Given the description of an element on the screen output the (x, y) to click on. 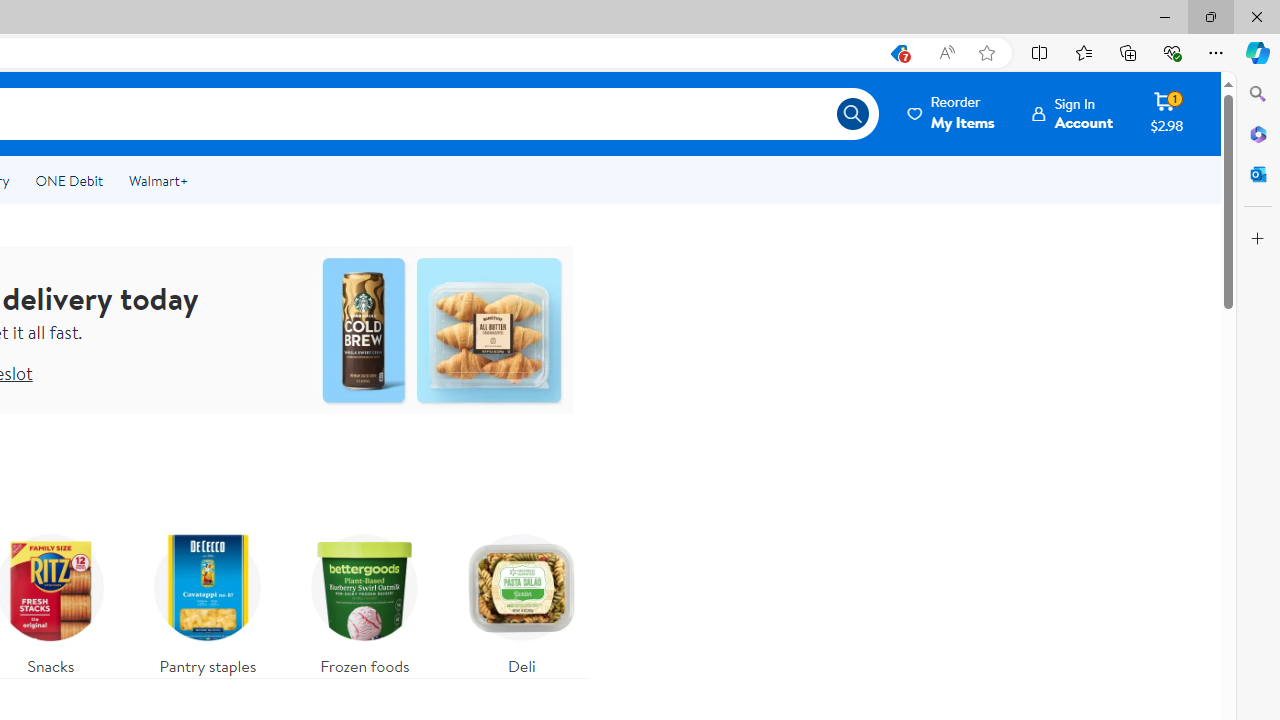
Cart contains 1 item Total Amount $2.98 (1166, 113)
